Given the description of an element on the screen output the (x, y) to click on. 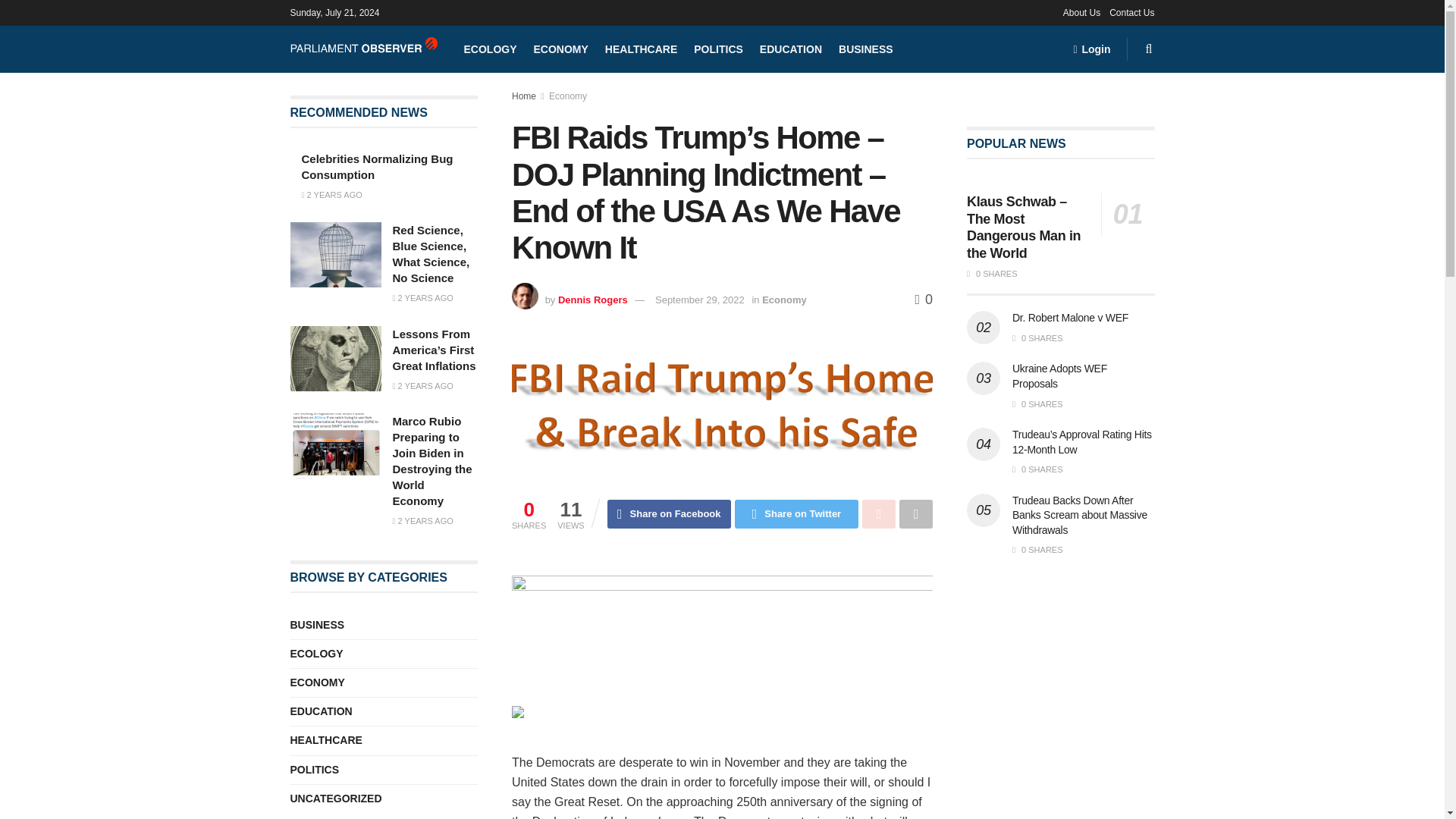
Economy (567, 95)
0 (923, 299)
Economy (783, 299)
Share on Twitter (797, 513)
Share on Facebook (668, 513)
BUSINESS (865, 48)
ECOLOGY (490, 48)
Home (523, 95)
EDUCATION (791, 48)
Contact Us (1131, 12)
About Us (1081, 12)
Dennis Rogers (592, 299)
HEALTHCARE (641, 48)
POLITICS (718, 48)
September 29, 2022 (699, 299)
